Given the description of an element on the screen output the (x, y) to click on. 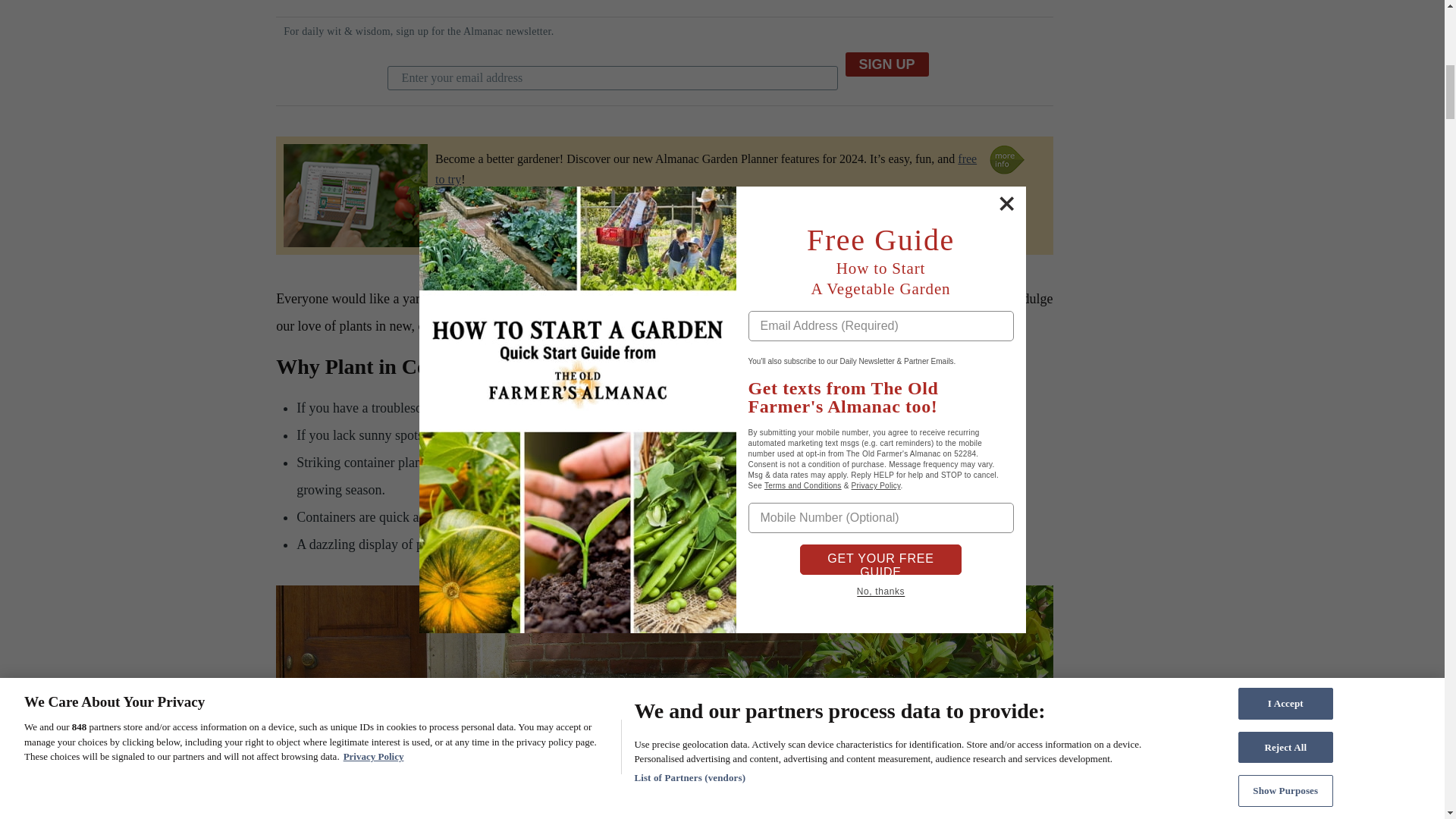
Sign Up (886, 64)
